Given the description of an element on the screen output the (x, y) to click on. 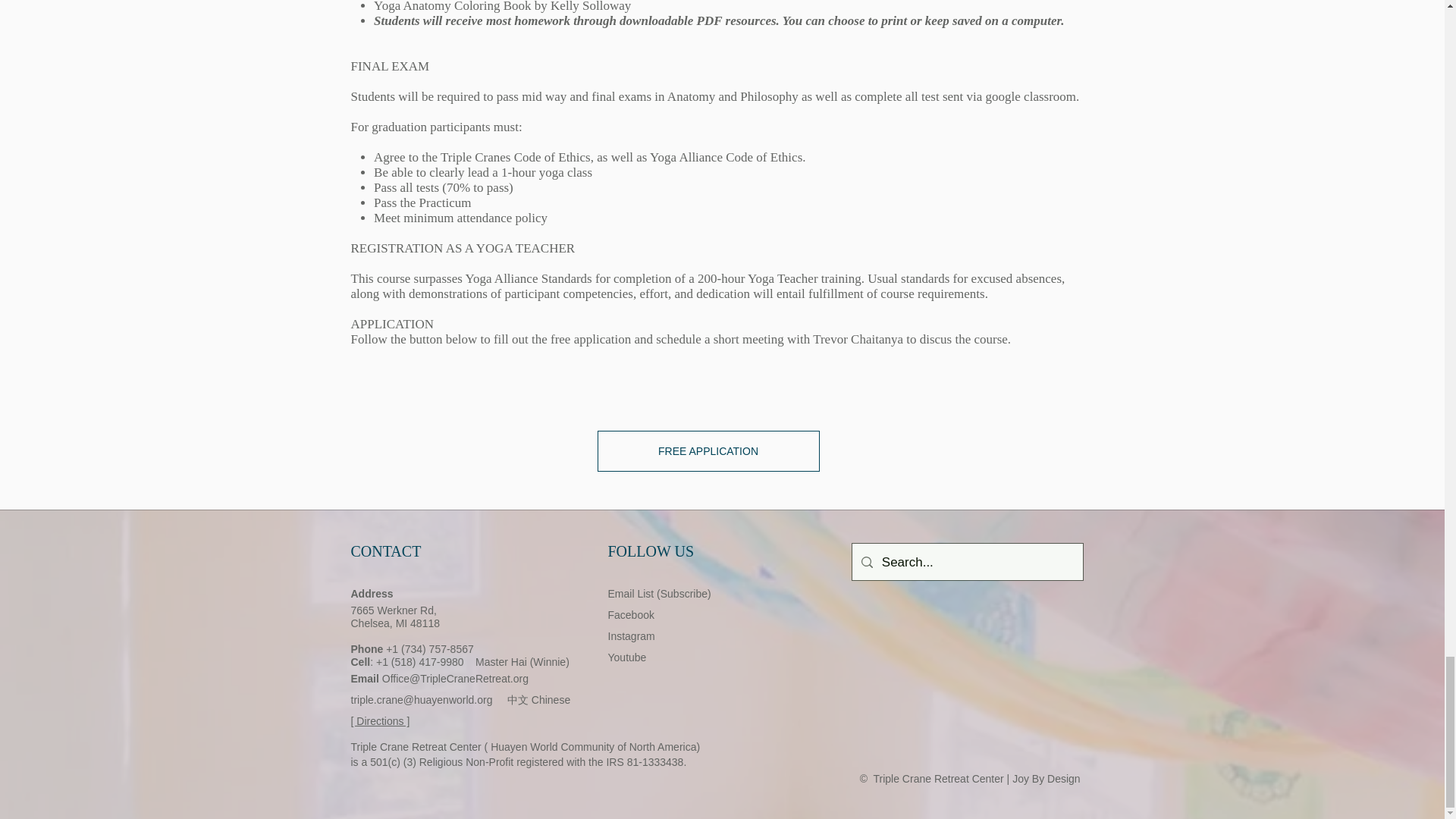
Youtube (627, 657)
Facebook (630, 614)
Instagram (631, 635)
FREE APPLICATION (707, 450)
